Given the description of an element on the screen output the (x, y) to click on. 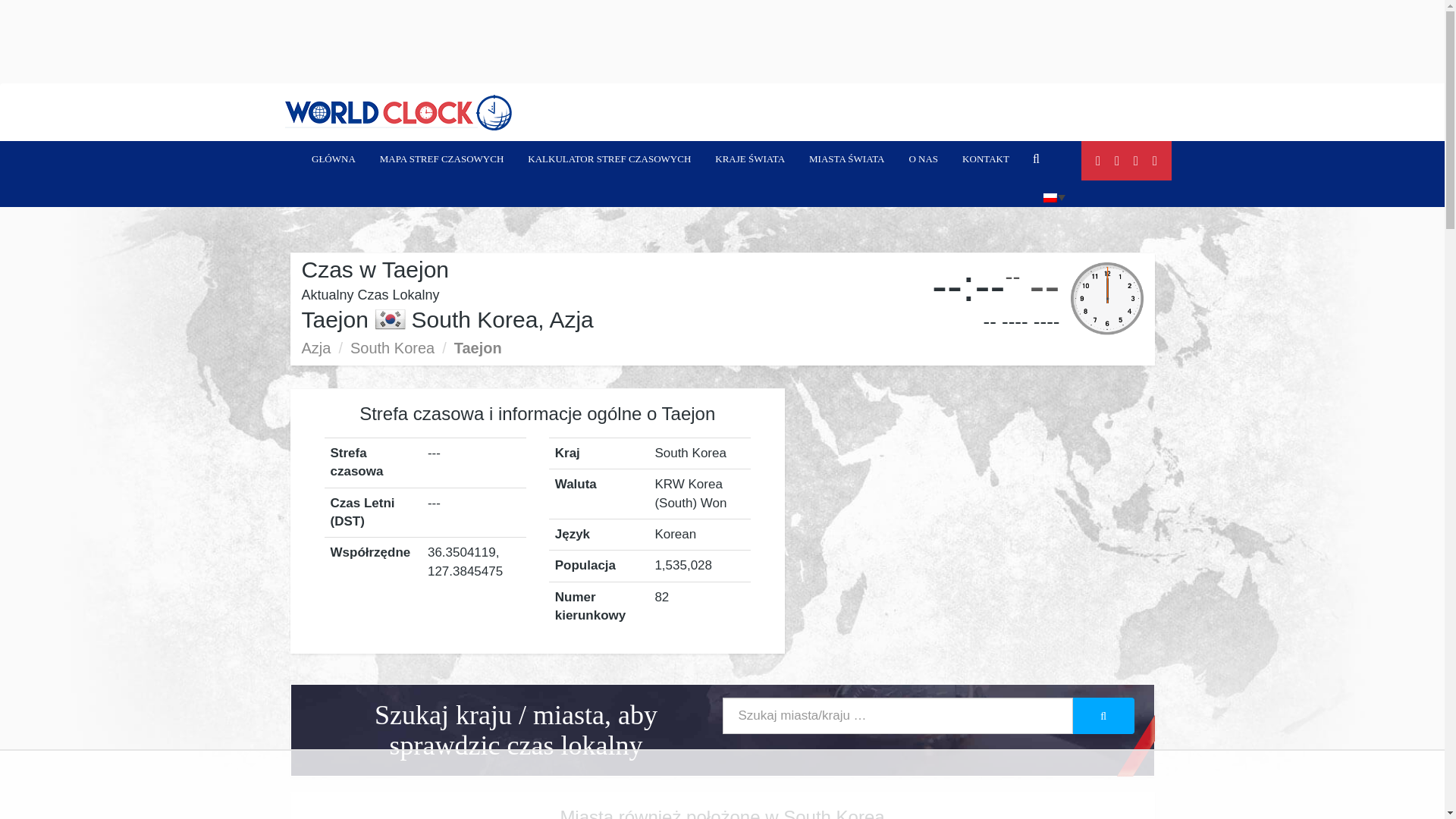
South Korea (391, 347)
Taejon (478, 347)
MAPA STREF CZASOWYCH (442, 158)
Azja (316, 347)
KALKULATOR STREF CZASOWYCH (609, 158)
O NAS (923, 158)
Szukaj: (896, 715)
KONTAKT (985, 158)
